Given the description of an element on the screen output the (x, y) to click on. 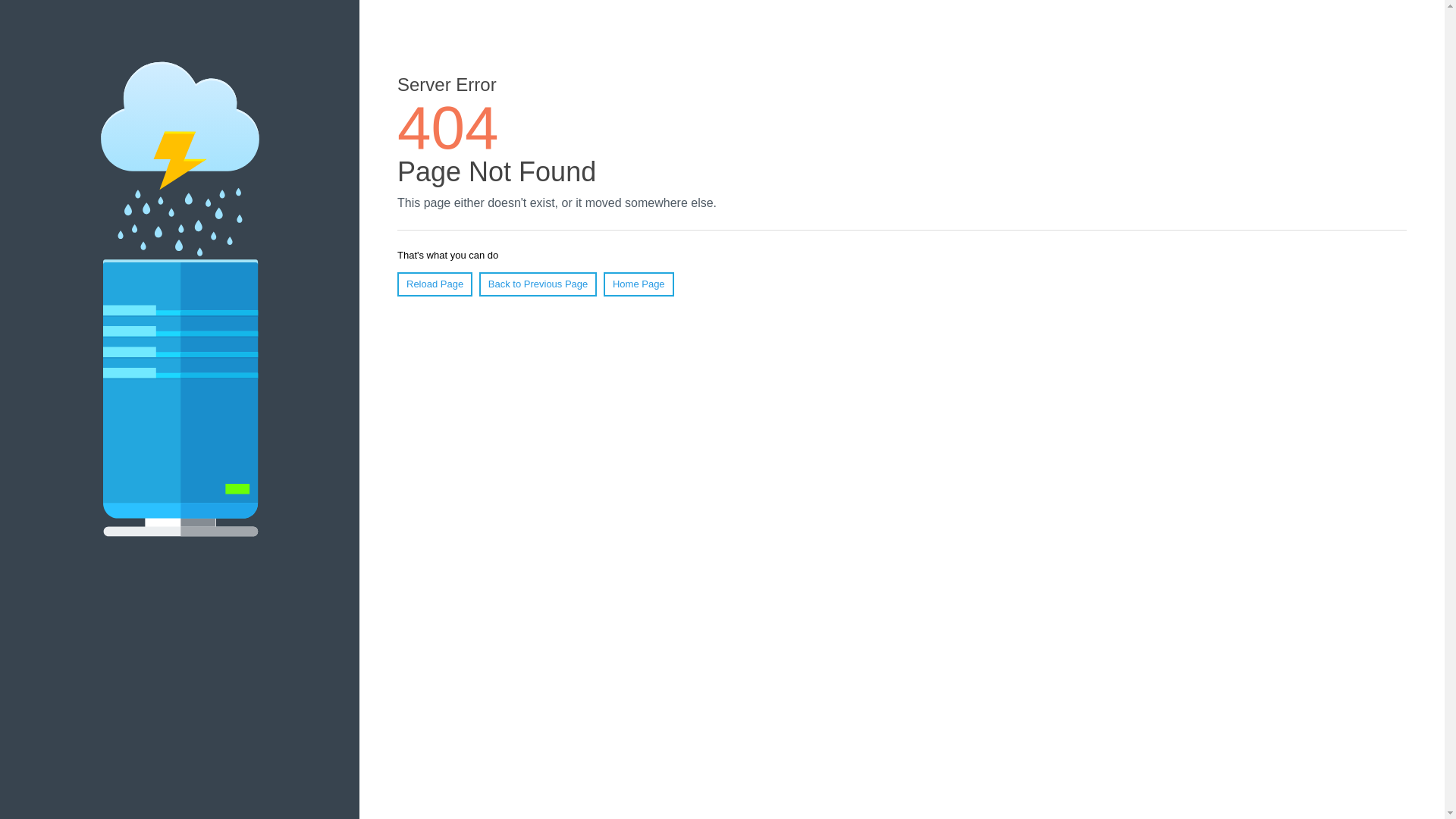
Home Page Element type: text (638, 284)
Reload Page Element type: text (434, 284)
Back to Previous Page Element type: text (538, 284)
